Given the description of an element on the screen output the (x, y) to click on. 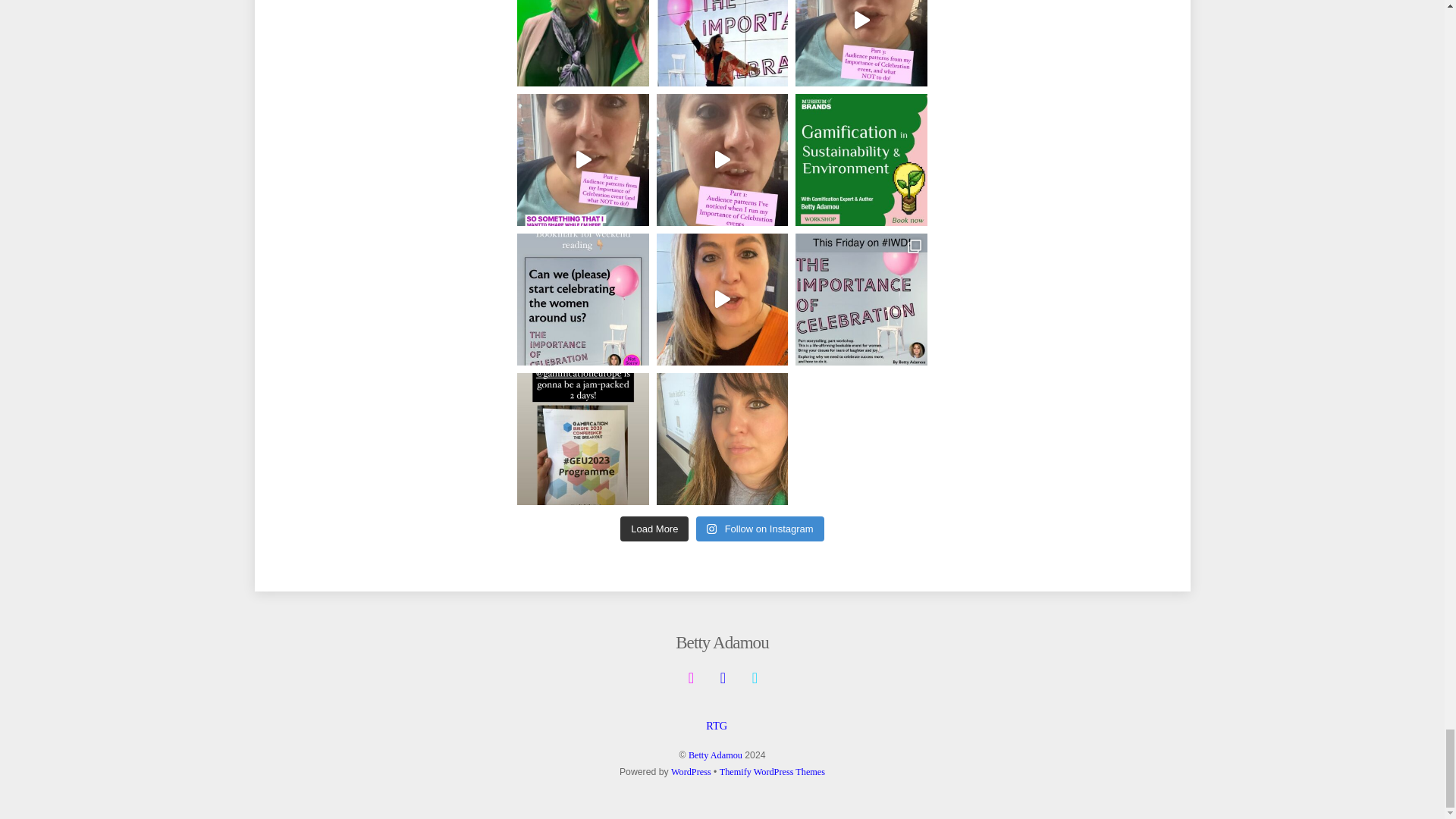
Betty Adamou (721, 641)
